Given the description of an element on the screen output the (x, y) to click on. 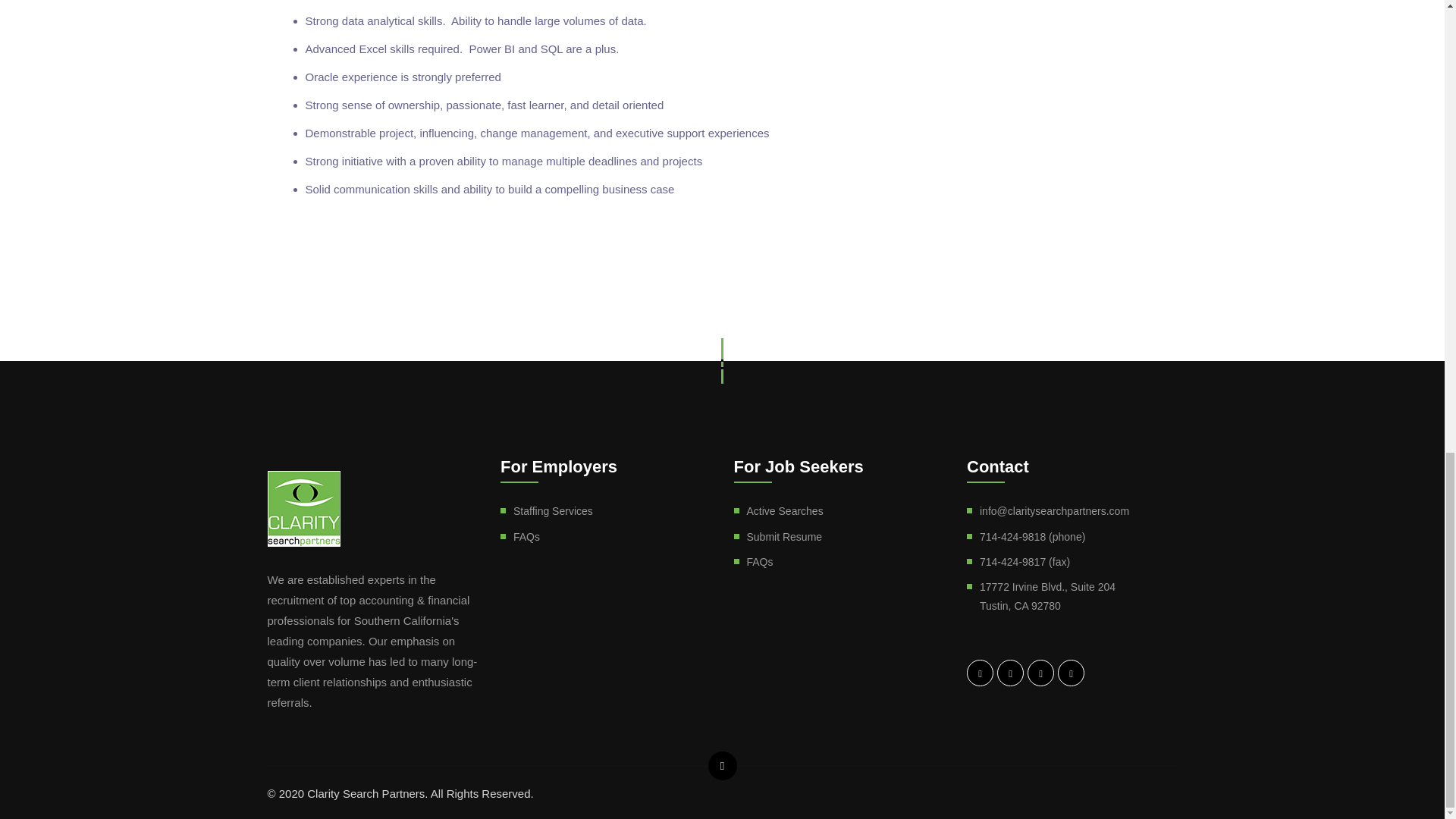
Prev Post (318, 287)
FAQs (526, 536)
Staffing Services (552, 510)
Active Searches (783, 510)
Next Post (1101, 287)
